Given the description of an element on the screen output the (x, y) to click on. 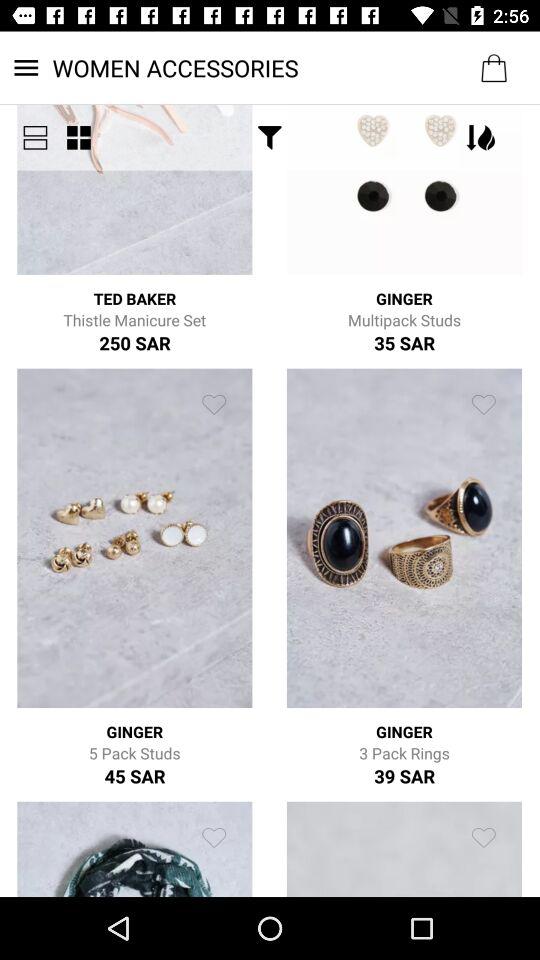
launch the icon to the left of women accessories item (35, 137)
